Given the description of an element on the screen output the (x, y) to click on. 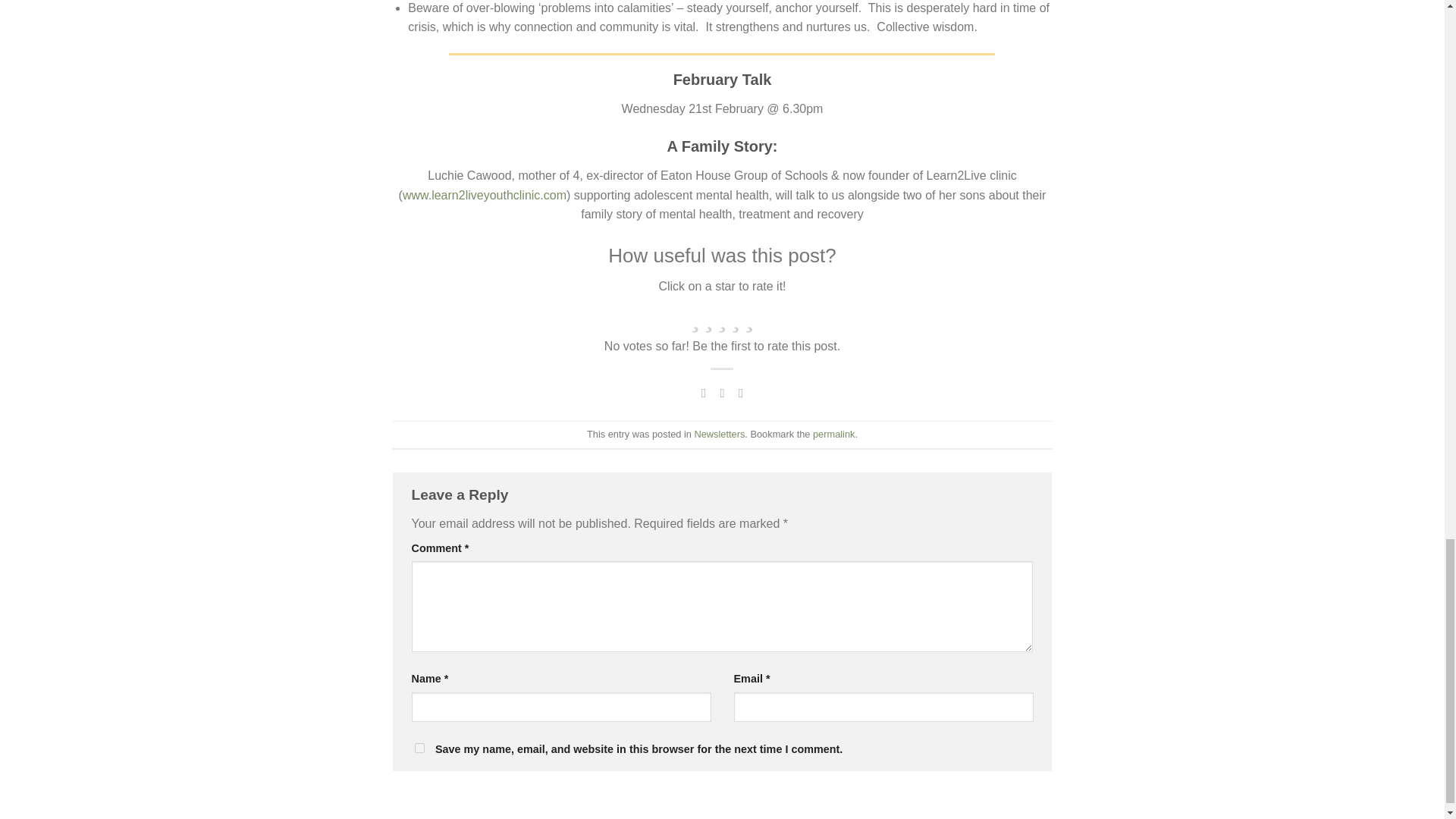
Newsletters (719, 433)
permalink (833, 433)
yes (418, 747)
Share on Facebook (703, 392)
Share on Twitter (722, 392)
Permalink to February 2024 Newsletter (833, 433)
Email to a Friend (740, 392)
www.learn2liveyouthclinic.com (484, 195)
